Given the description of an element on the screen output the (x, y) to click on. 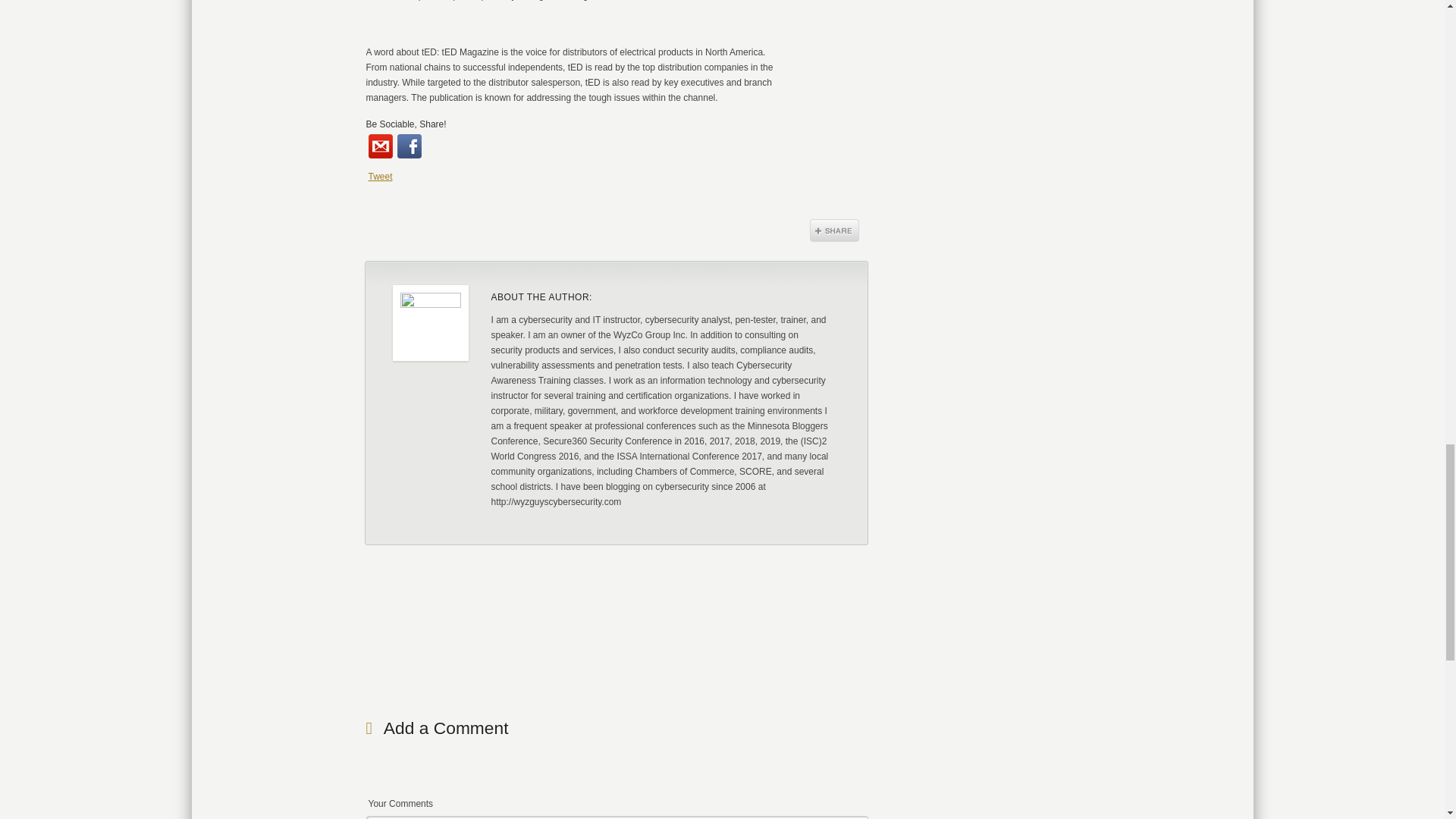
Be Sociable, Share! (405, 123)
email (380, 146)
Facebook (409, 146)
